Given the description of an element on the screen output the (x, y) to click on. 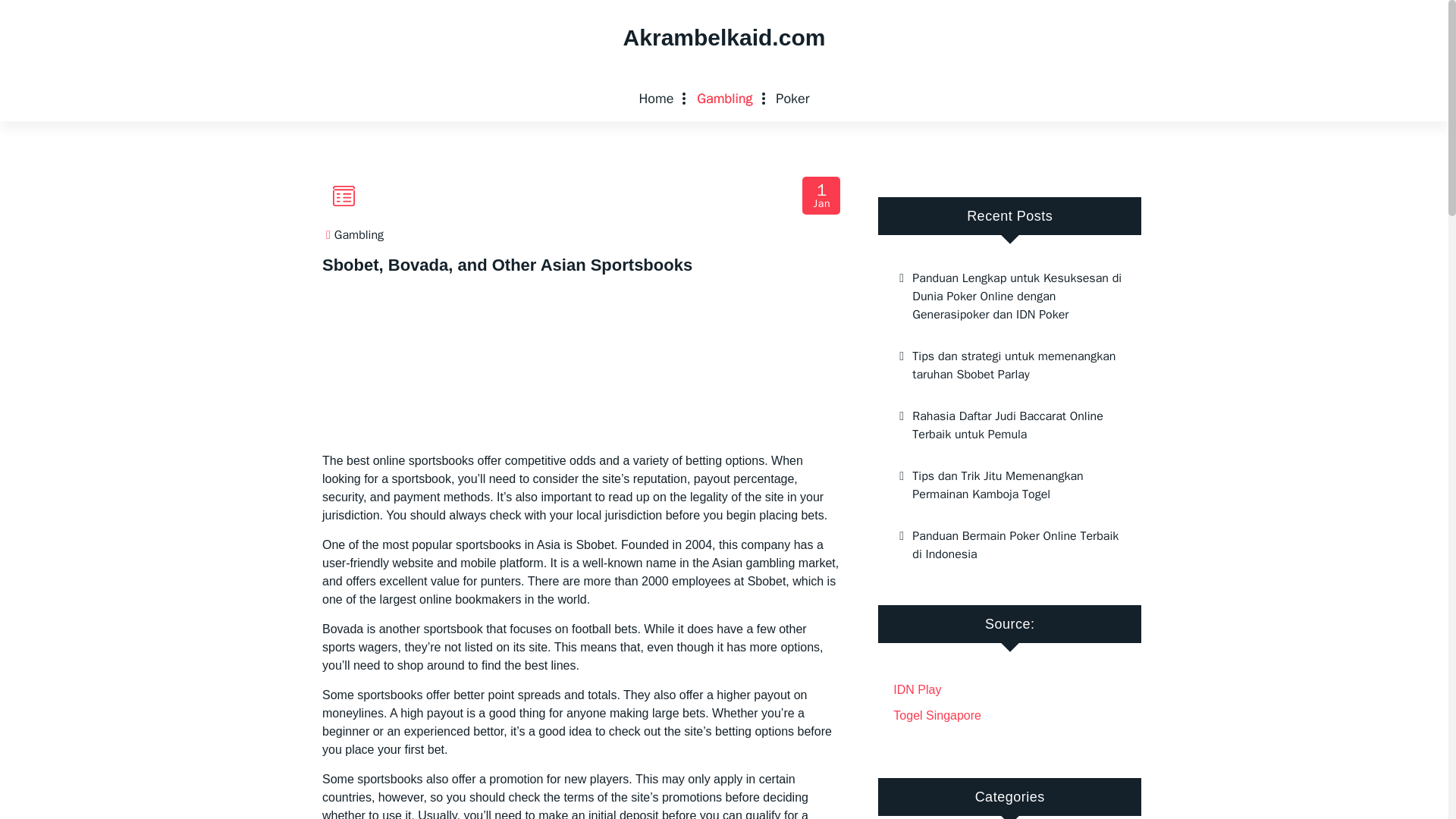
Tips dan strategi untuk memenangkan taruhan Sbobet Parlay (1009, 364)
Home (655, 98)
Home (655, 98)
Rahasia Daftar Judi Baccarat Online Terbaik untuk Pemula (1009, 425)
Tips dan Trik Jitu Memenangkan Permainan Kamboja Togel (1009, 485)
Panduan Bermain Poker Online Terbaik di Indonesia (1009, 544)
Akrambelkaid.com (724, 37)
Gambling (359, 235)
IDN Play (916, 689)
Gambling (724, 98)
Gambling (724, 98)
Poker (791, 98)
Poker (821, 195)
